Given the description of an element on the screen output the (x, y) to click on. 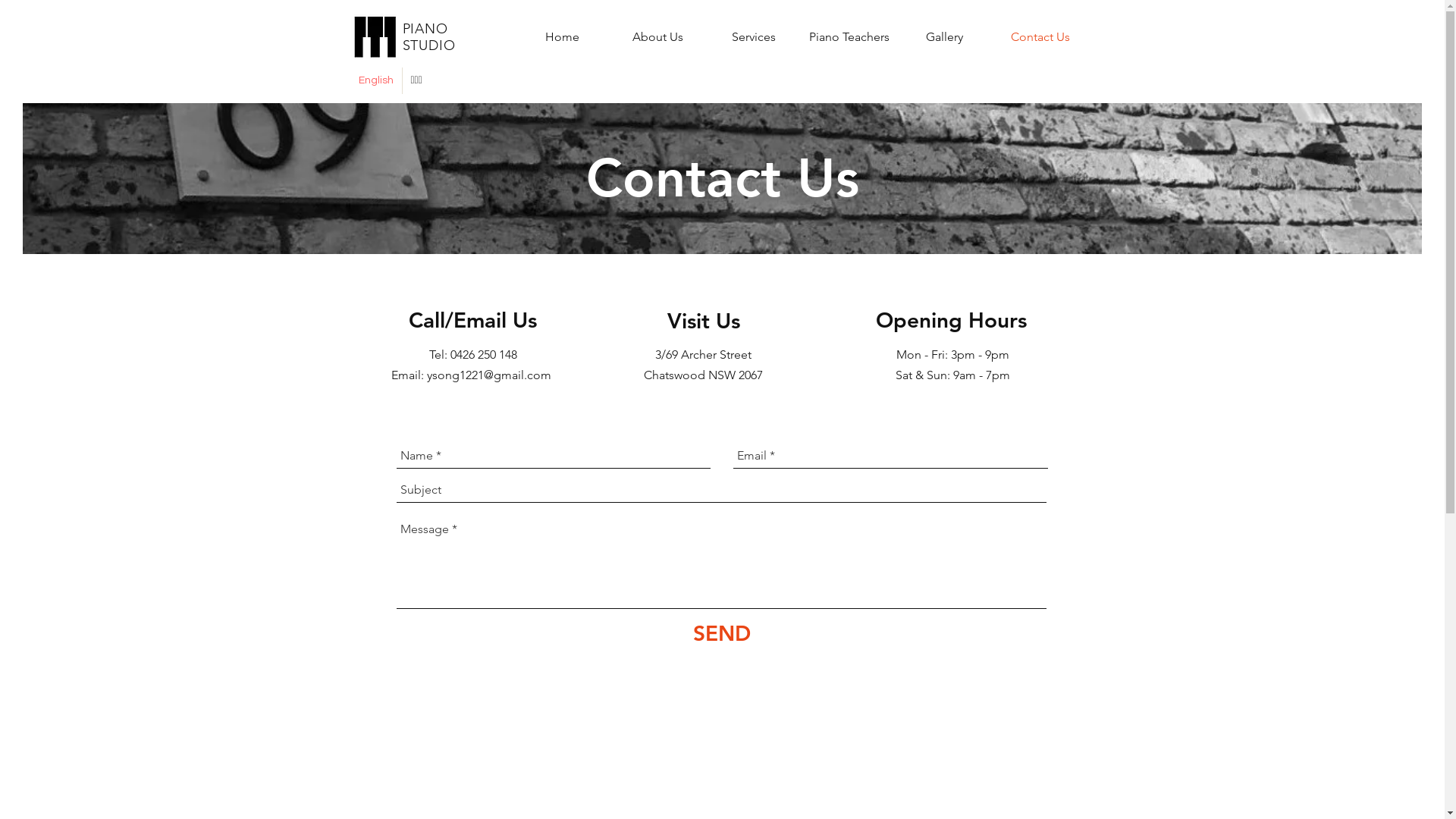
Contact Us Element type: text (1039, 36)
English Element type: text (375, 80)
Gallery Element type: text (943, 36)
Piano Teachers Element type: text (848, 36)
Email: ysong1221@gmail.com  Element type: text (472, 374)
Home Element type: text (561, 36)
Services Element type: text (752, 36)
STUDIO Element type: text (428, 45)
About Us Element type: text (657, 36)
SEND Element type: text (721, 633)
PIANO  Element type: text (426, 28)
